Given the description of an element on the screen output the (x, y) to click on. 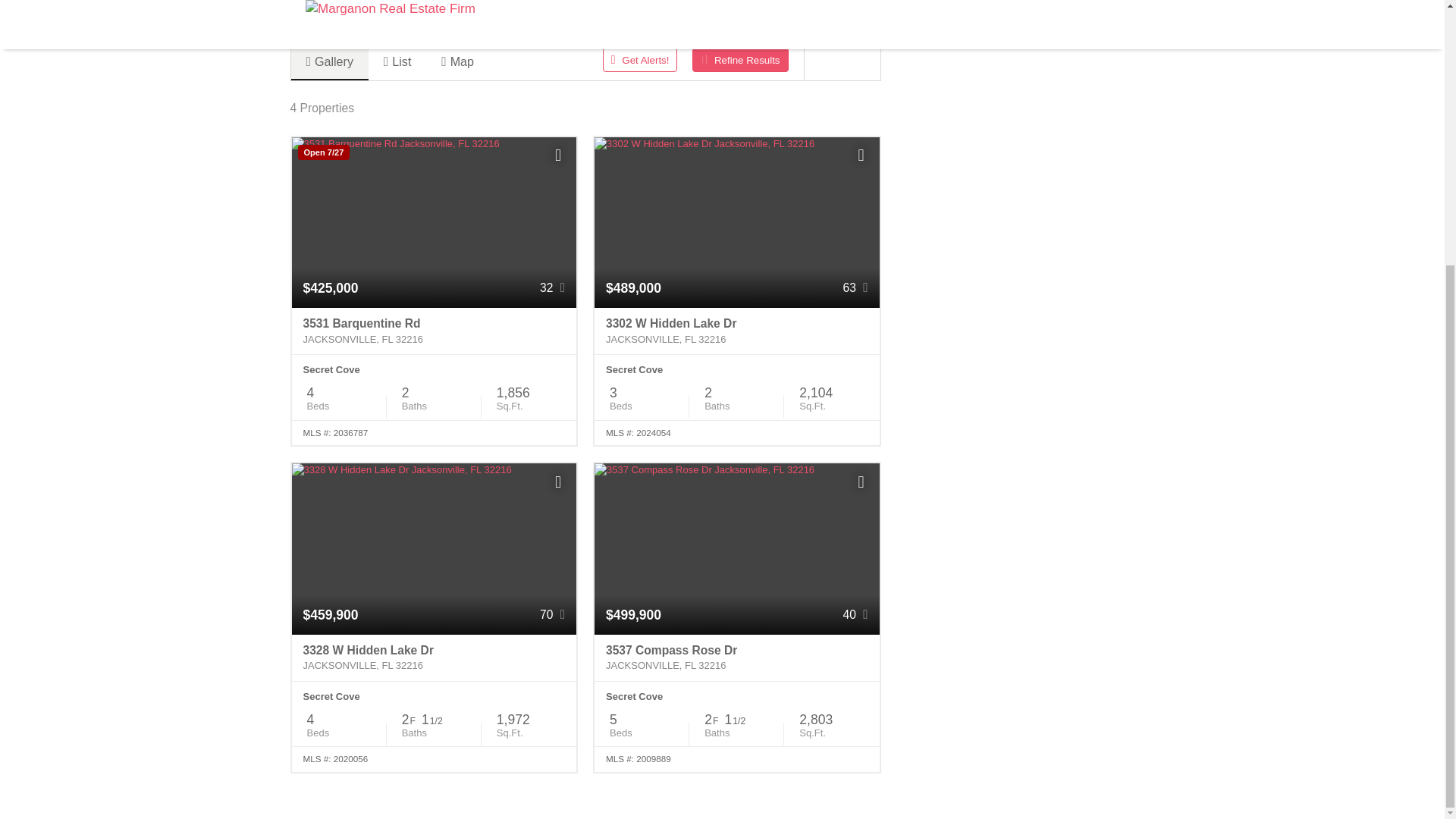
3537 Compass Rose Dr Jacksonville,  FL 32216 (736, 657)
3302 W Hidden Lake Dr Jacksonville,  FL 32216 (736, 330)
3328 W Hidden Lake Dr Jacksonville,  FL 32216 (433, 657)
3531 Barquentine Rd Jacksonville,  FL 32216 (433, 330)
